Given the description of an element on the screen output the (x, y) to click on. 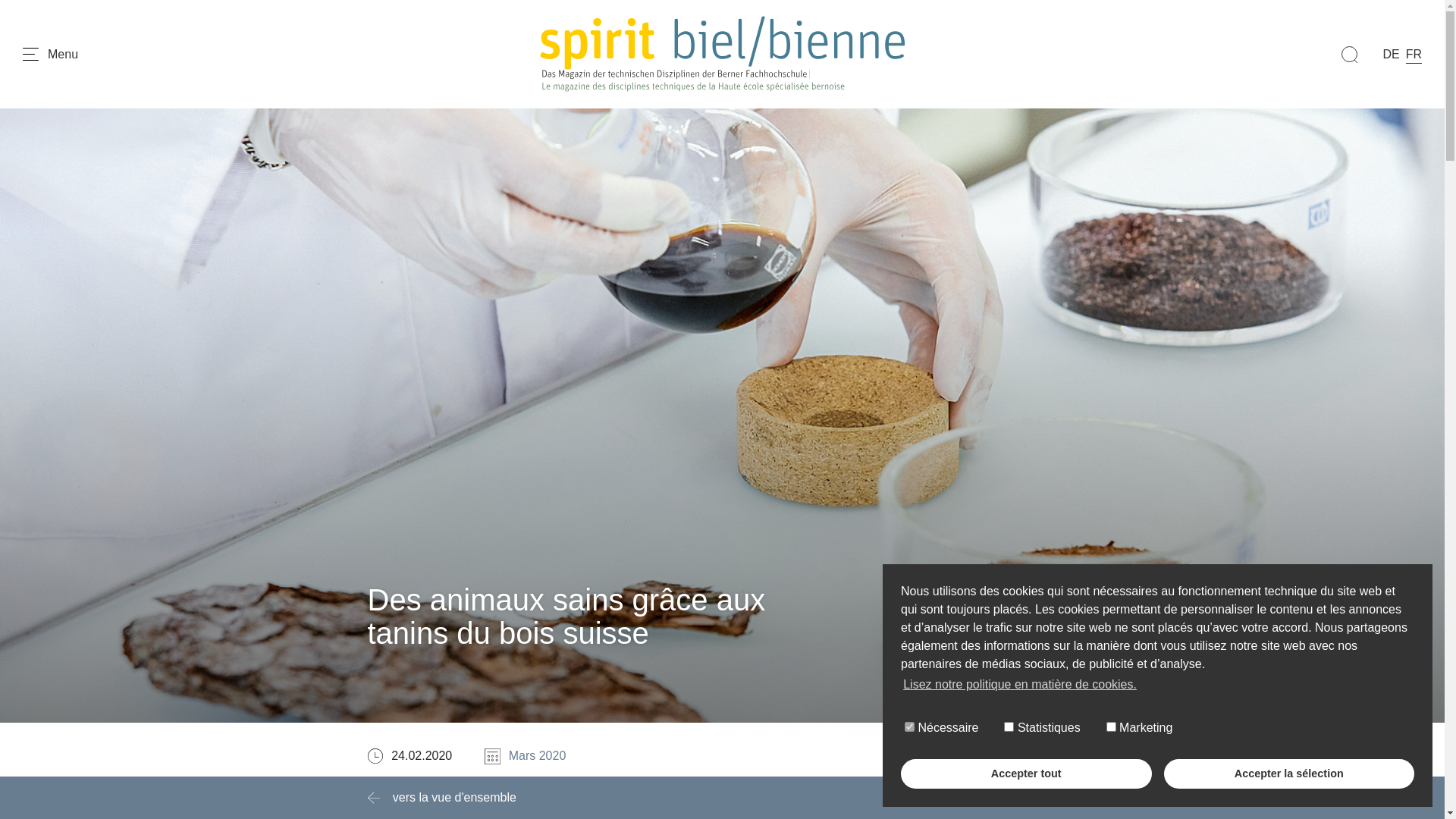
Mars 2020 Element type: text (537, 756)
Menu Element type: text (50, 54)
Page d'accueil Element type: hover (722, 54)
Accepter tout Element type: text (1025, 773)
FR Element type: text (1413, 54)
DE Element type: text (1390, 54)
Focus Element type: text (1060, 753)
vers la vue d'ensemble  Element type: text (443, 797)
